Given the description of an element on the screen output the (x, y) to click on. 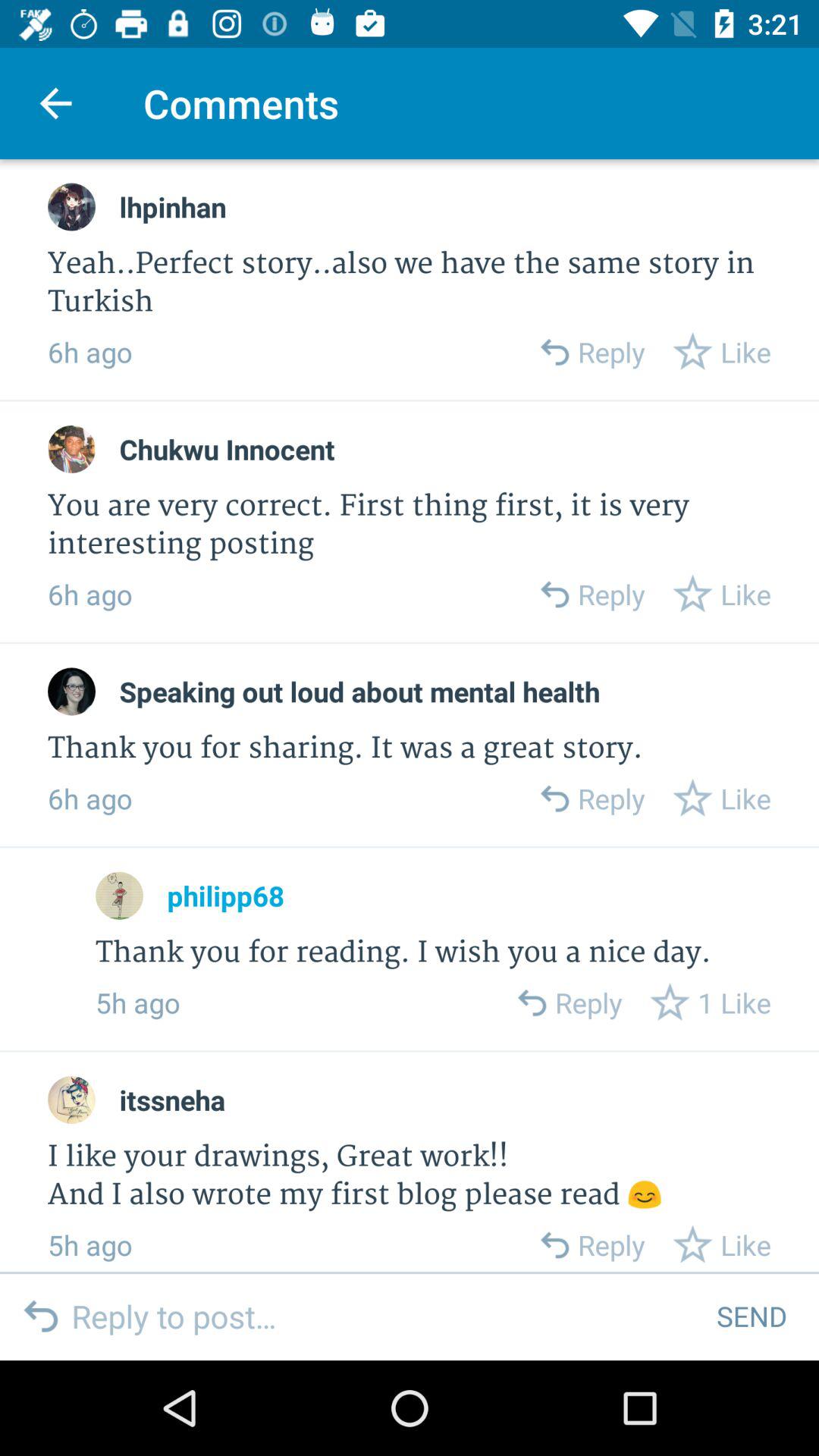
turn off the item above the thank you for item (225, 895)
